Given the description of an element on the screen output the (x, y) to click on. 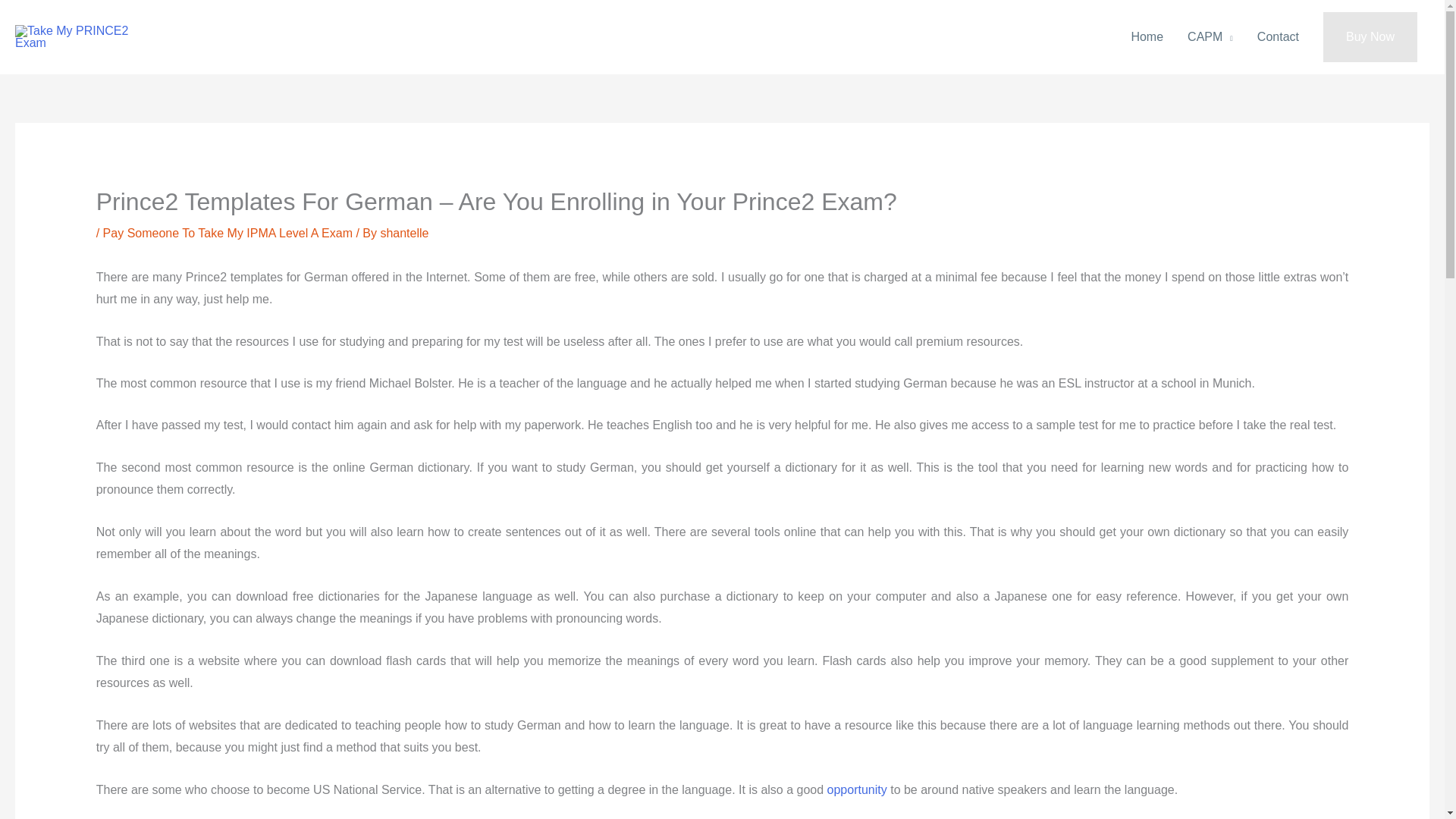
Home (1146, 37)
View all posts by shantelle (404, 232)
Pay Someone To Take My IPMA Level A Exam (227, 232)
Buy Now (1369, 37)
CAPM (1209, 37)
opportunity (856, 789)
Contact (1277, 37)
shantelle (404, 232)
